Given the description of an element on the screen output the (x, y) to click on. 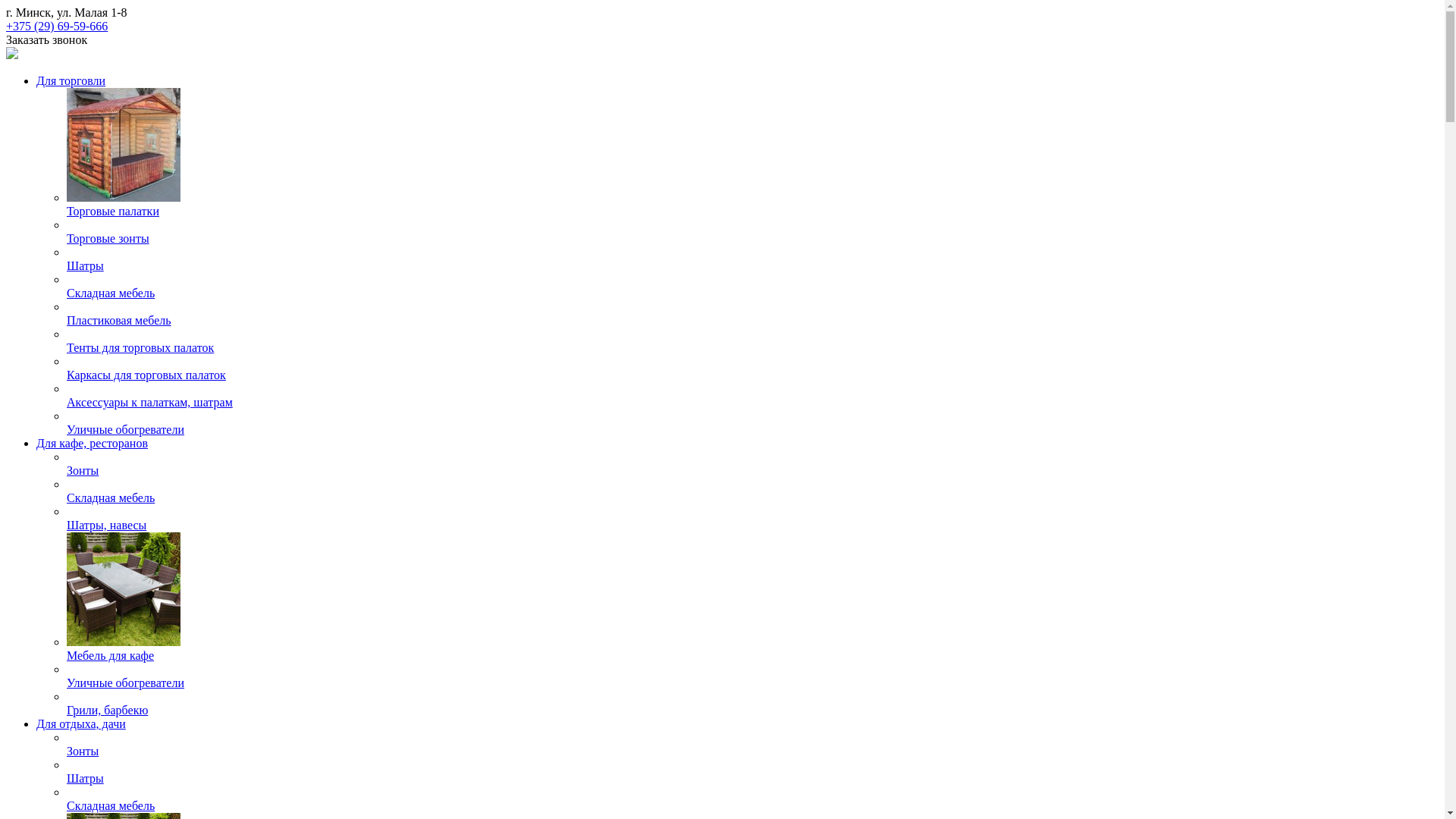
+375 (29) 69-59-666 Element type: text (56, 25)
